Given the description of an element on the screen output the (x, y) to click on. 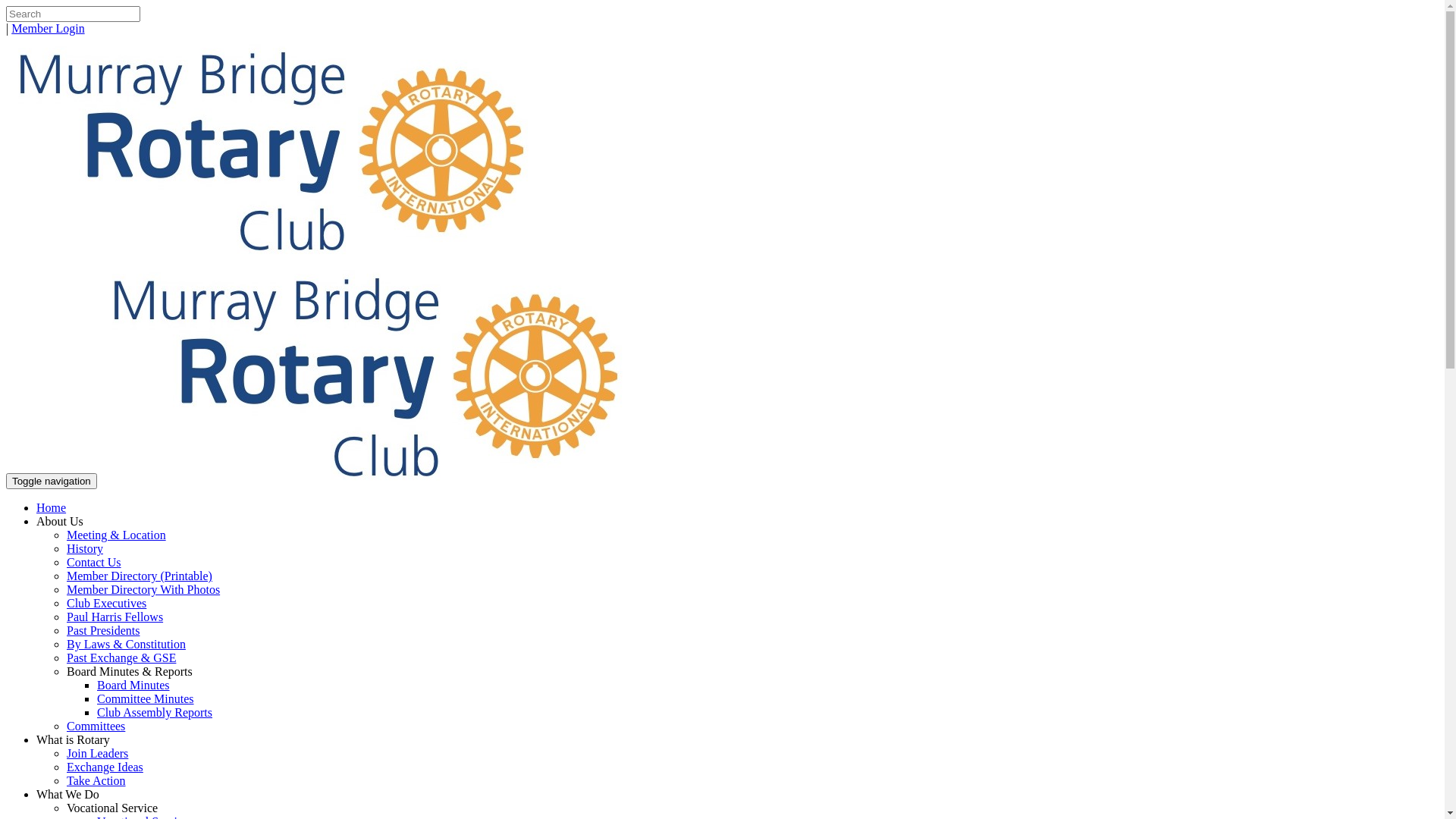
Take Action Element type: text (95, 780)
Club Executives Element type: text (106, 602)
Vocational Service Element type: text (111, 807)
Contact Us Element type: text (93, 561)
Member Directory With Photos Element type: text (142, 589)
What is Rotary Element type: text (72, 739)
Committees Element type: text (95, 725)
Board Minutes Element type: text (133, 684)
What We Do Element type: text (67, 793)
Join Leaders Element type: text (97, 752)
Home Element type: text (50, 507)
History Element type: text (84, 548)
Committee Minutes Element type: text (145, 698)
Paul Harris Fellows Element type: text (114, 616)
Toggle navigation Element type: text (51, 481)
Past Presidents Element type: text (102, 630)
By Laws & Constitution Element type: text (125, 643)
Member Login Element type: text (47, 27)
Meeting & Location Element type: text (116, 534)
About Us Element type: text (59, 520)
Past Exchange & GSE Element type: text (120, 657)
Member Directory (Printable) Element type: text (139, 575)
Club Assembly Reports Element type: text (154, 712)
Exchange Ideas Element type: text (104, 766)
Board Minutes & Reports Element type: text (129, 671)
